Given the description of an element on the screen output the (x, y) to click on. 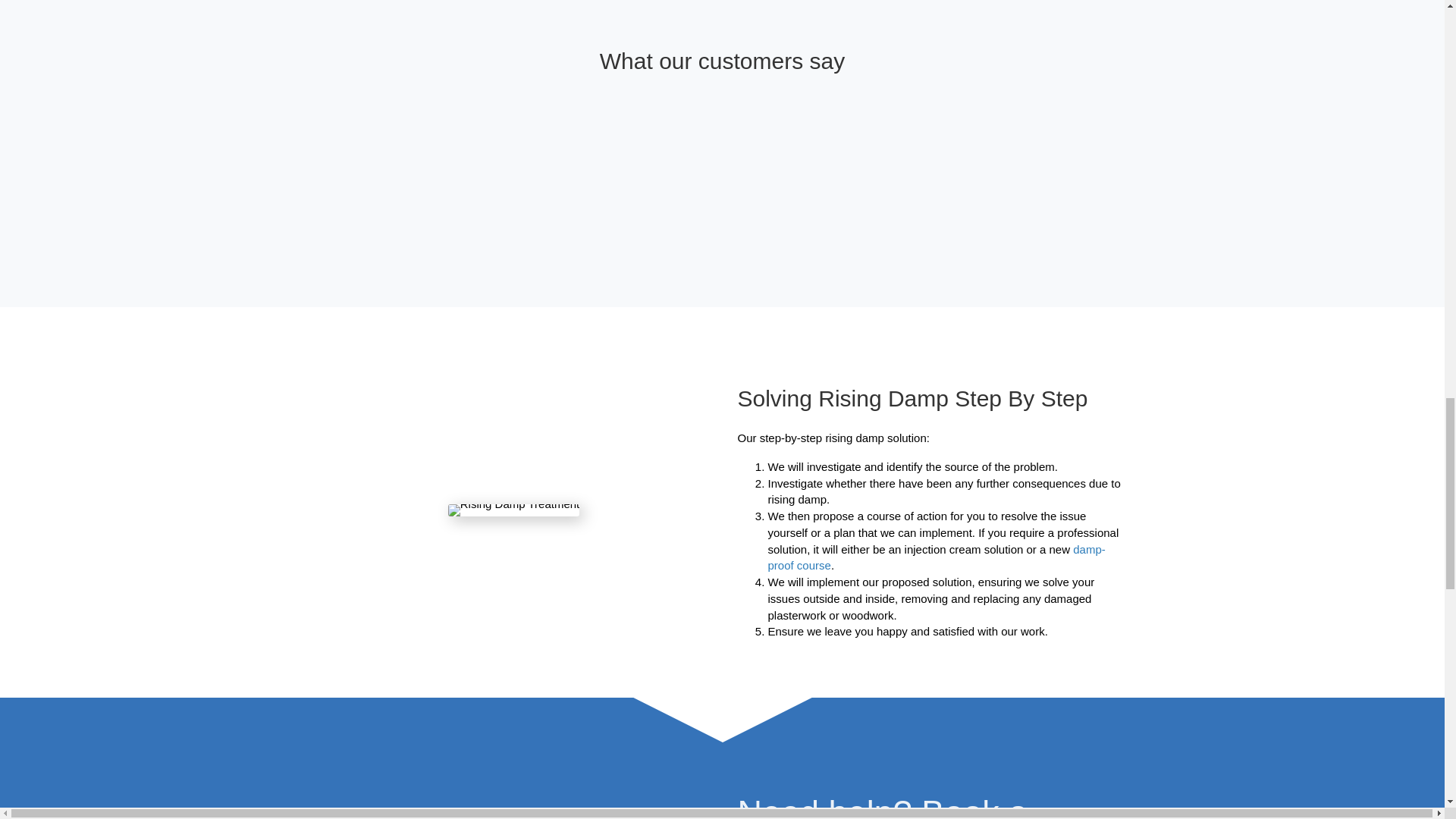
Rising Damp Treatment 4 500x400-min (513, 510)
